Given the description of an element on the screen output the (x, y) to click on. 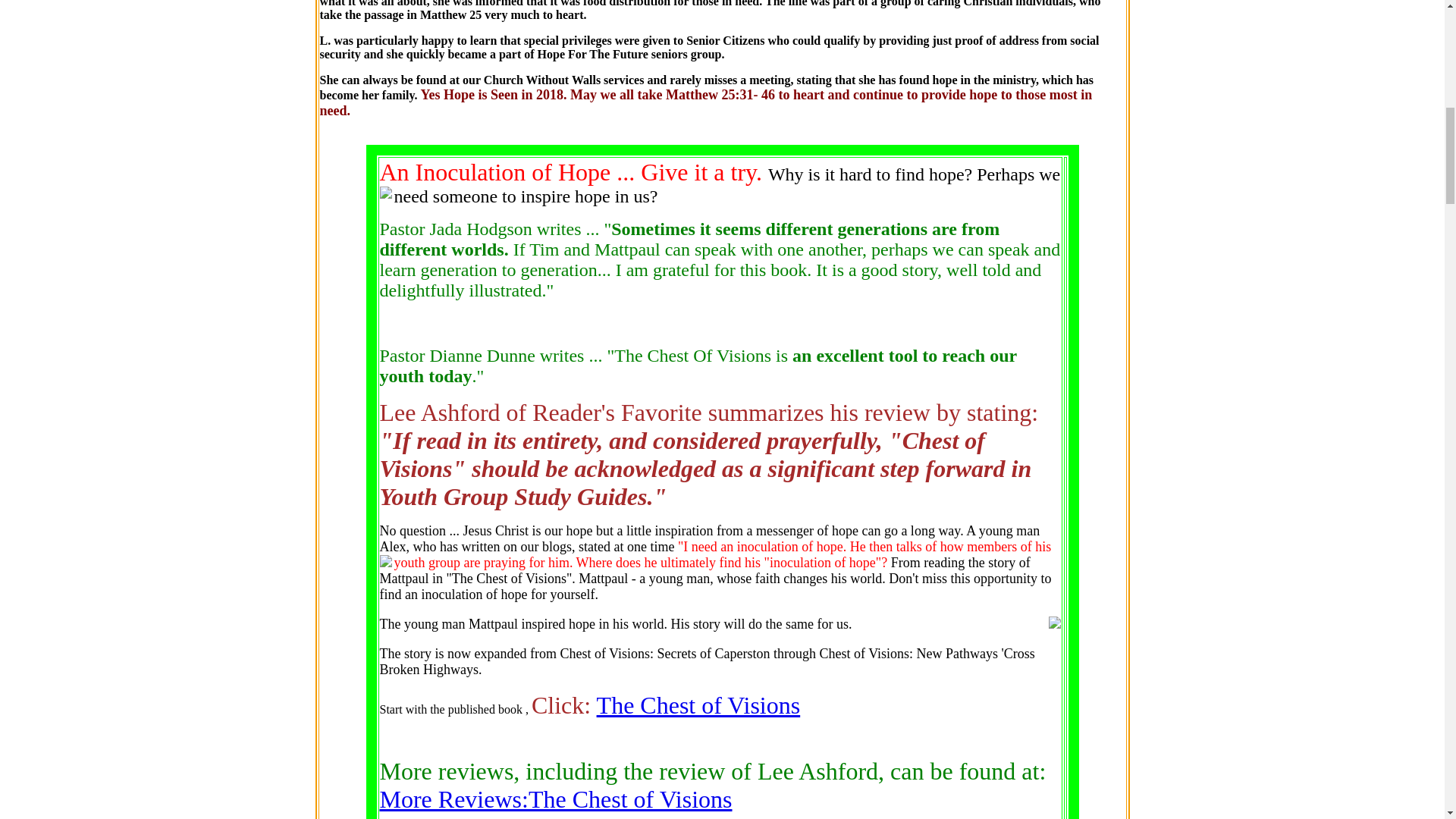
More Reviews:The Chest of Visions (555, 799)
The Chest of Visions (698, 705)
